Given the description of an element on the screen output the (x, y) to click on. 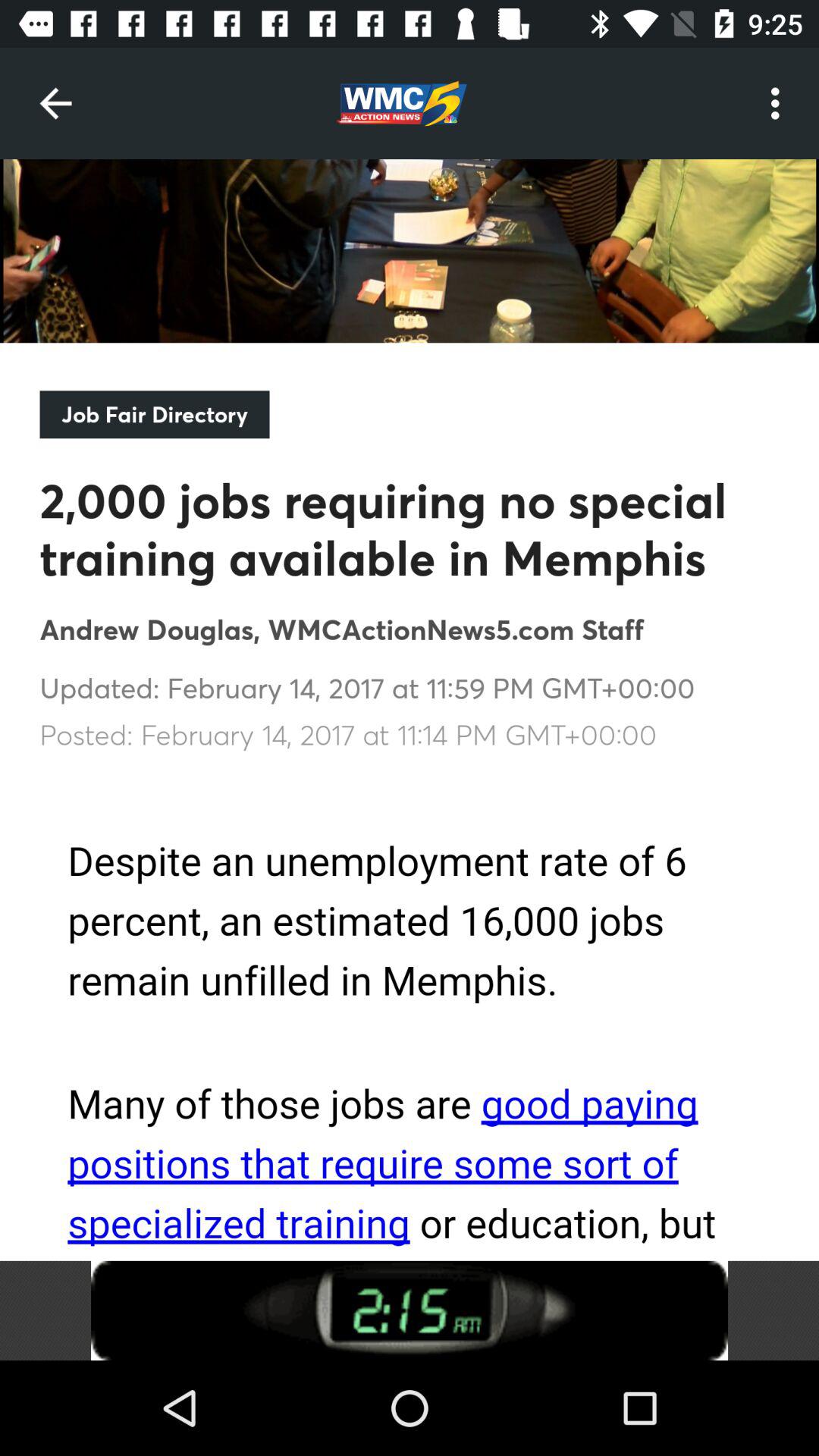
go to advertisement (409, 1310)
